Given the description of an element on the screen output the (x, y) to click on. 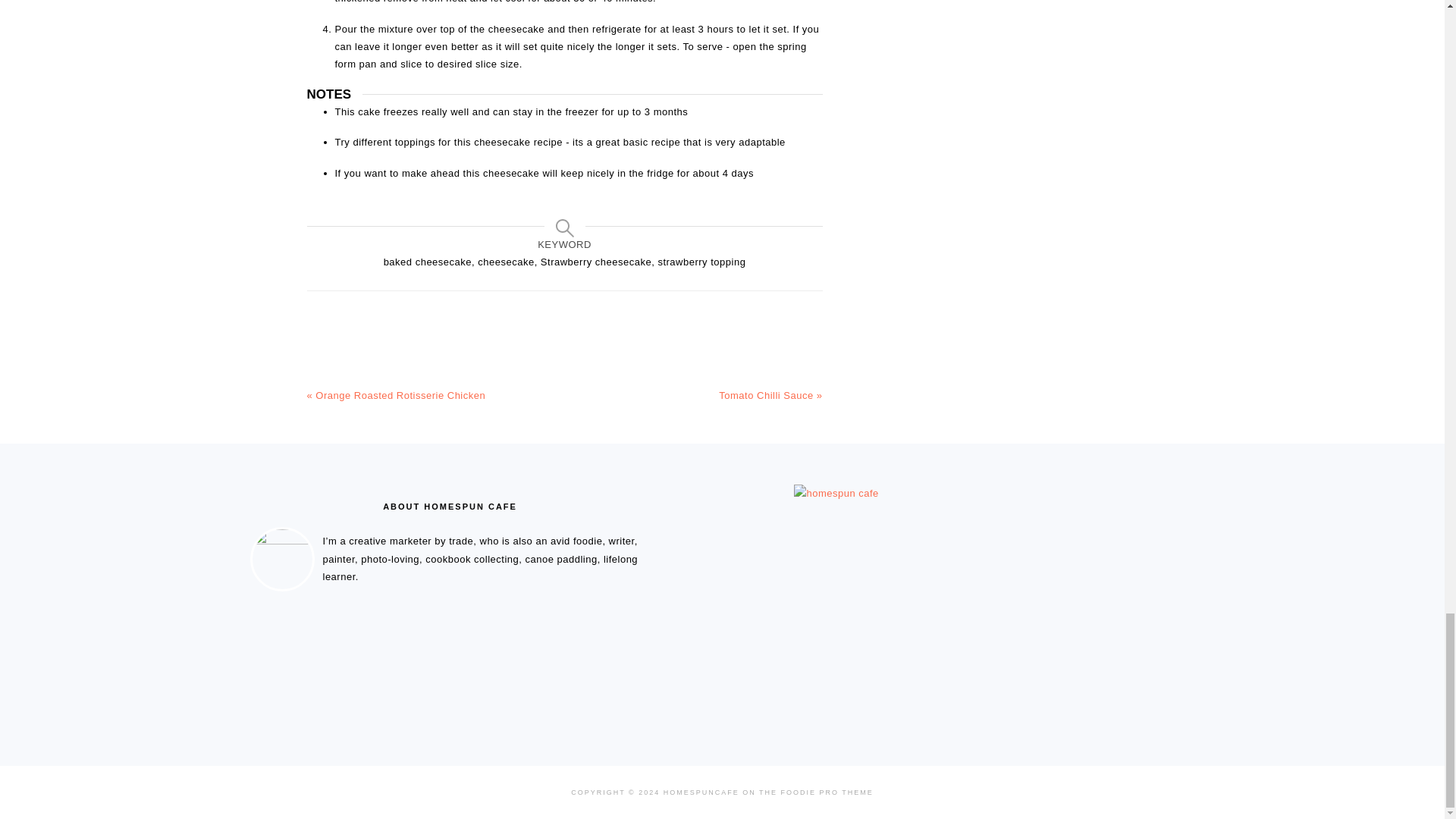
FOODIE PRO THEME (826, 792)
